Given the description of an element on the screen output the (x, y) to click on. 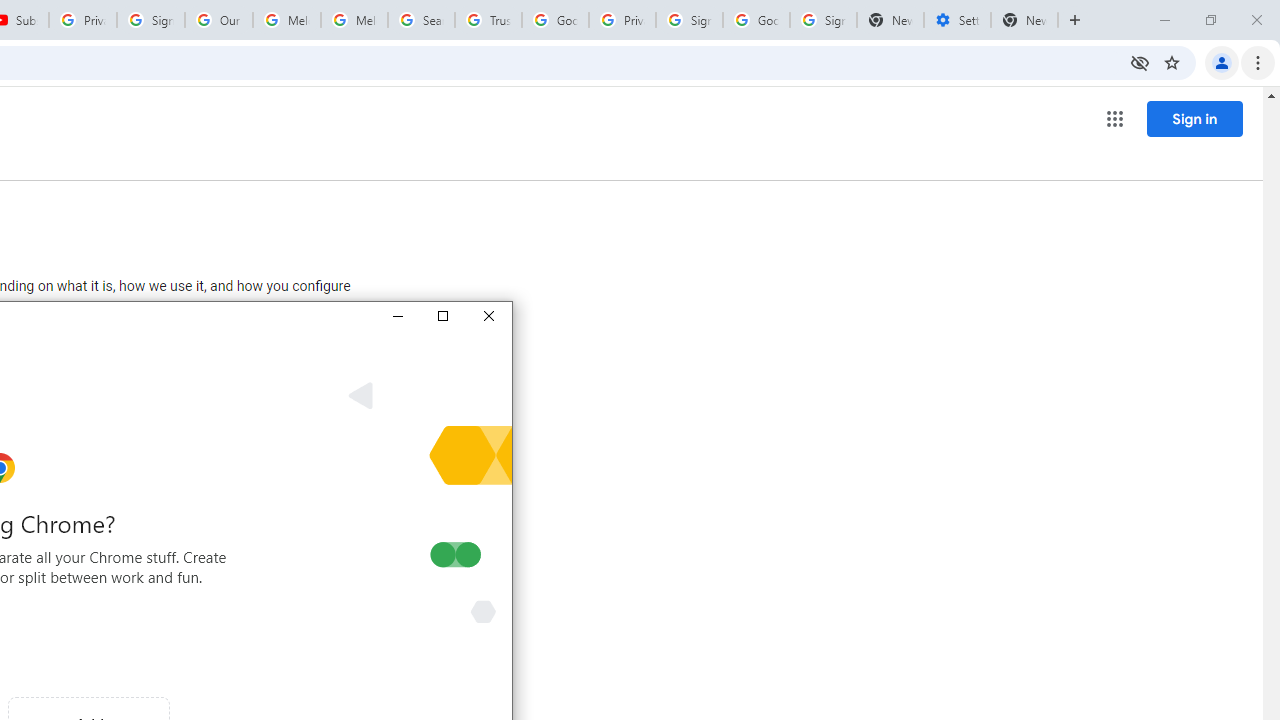
Maximize (442, 316)
Sign in - Google Accounts (823, 20)
Search our Doodle Library Collection - Google Doodles (420, 20)
Settings - Addresses and more (957, 20)
Google Ads - Sign in (555, 20)
